Given the description of an element on the screen output the (x, y) to click on. 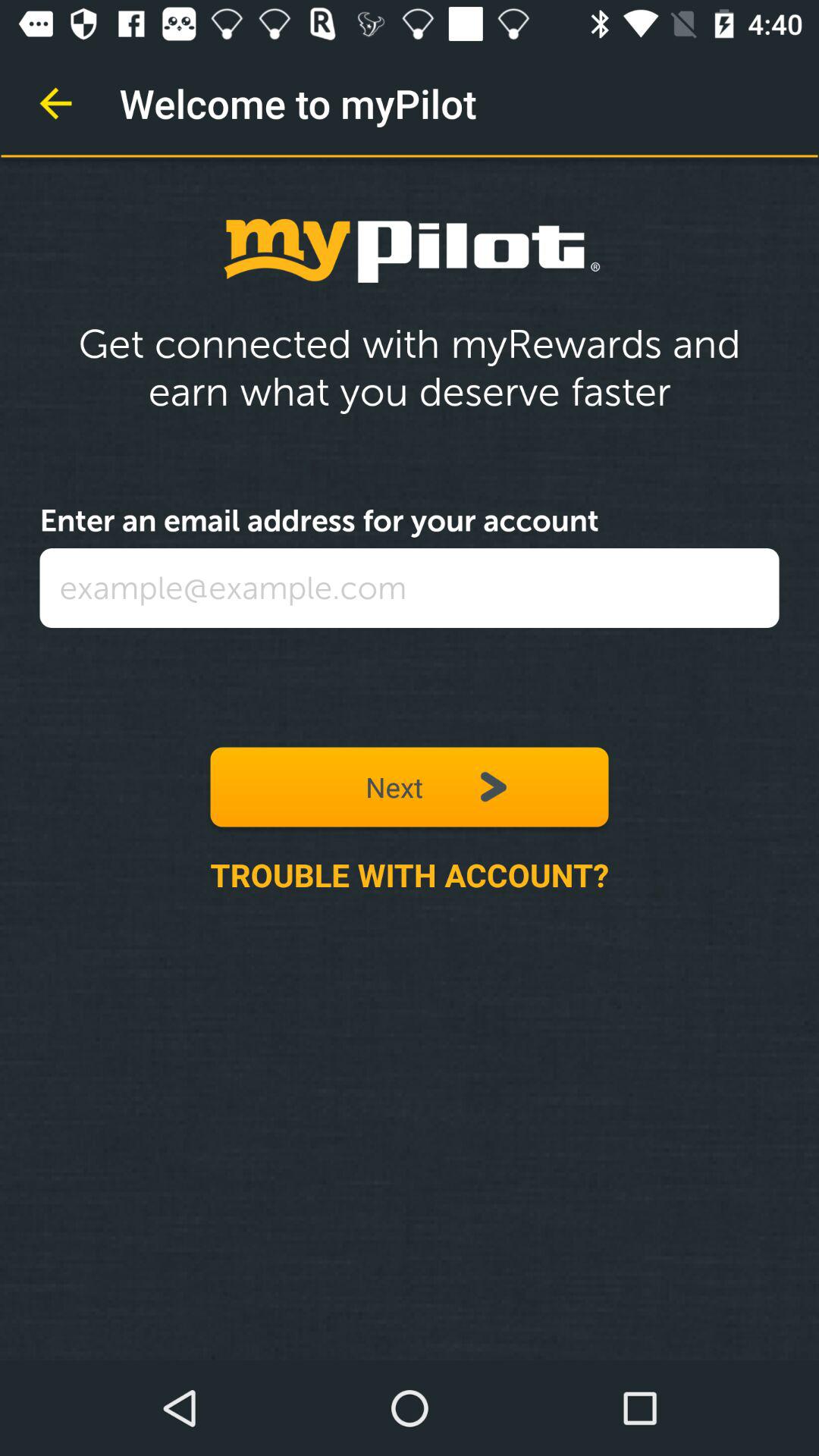
swipe until the trouble with account? icon (409, 874)
